Given the description of an element on the screen output the (x, y) to click on. 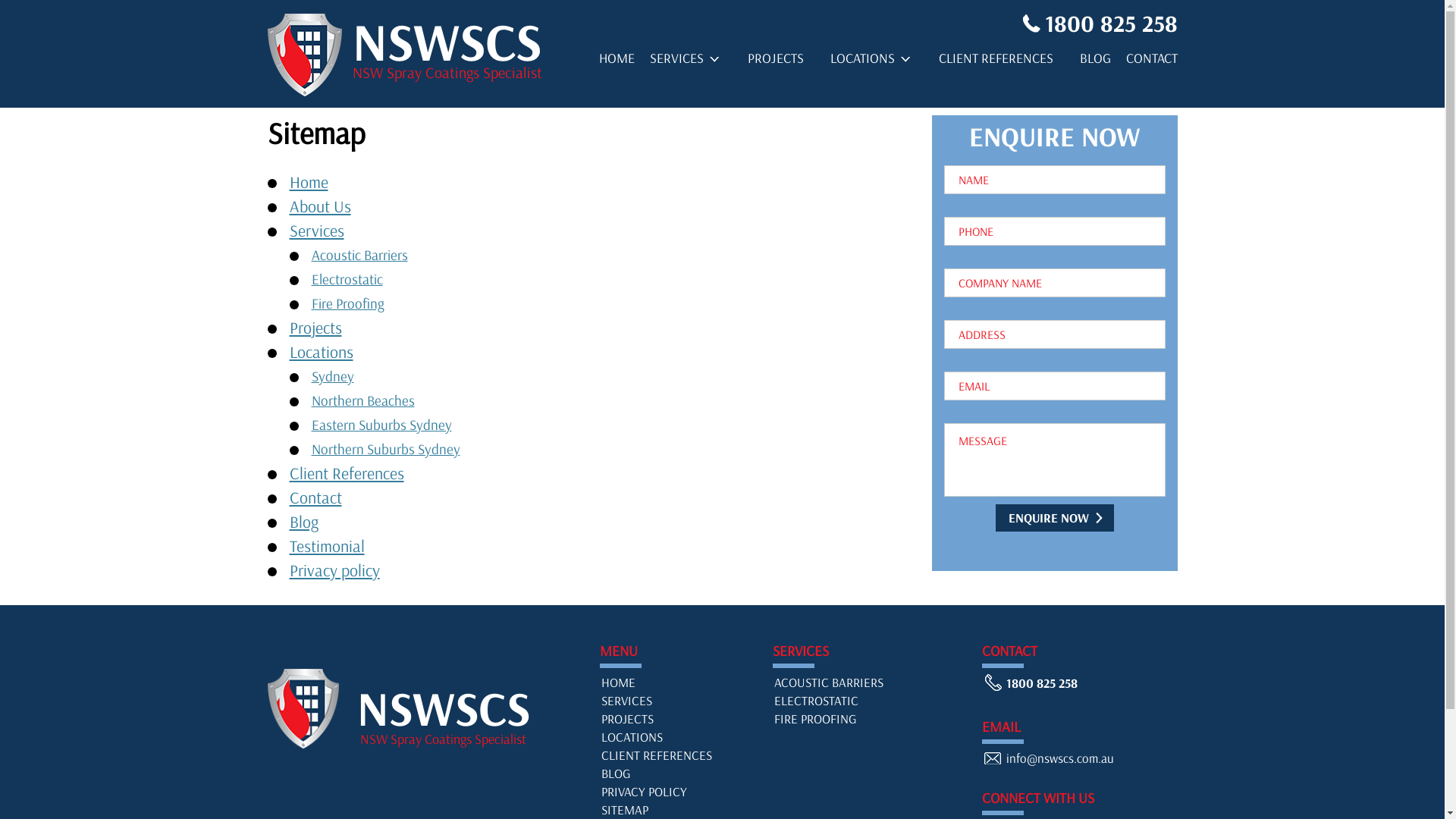
PRIVACY POLICY Element type: text (643, 791)
PROJECTS Element type: text (626, 718)
Locations Element type: text (329, 351)
NSWSCS
NSW Spray Coatings Specialist Element type: text (406, 55)
HOME Element type: text (616, 60)
CONTACT Element type: text (1150, 60)
SERVICES Element type: text (625, 700)
FIRE PROOFING Element type: text (814, 718)
Enquire Now Element type: text (1053, 517)
Northern Suburbs Sydney Element type: text (393, 448)
info@nswscs.com.au Element type: text (1047, 759)
NSWSCS
NSW Spray Coatings Specialist Element type: text (414, 708)
HOME Element type: text (617, 682)
Eastern Suburbs Sydney Element type: text (389, 424)
1800 825 258 Element type: text (1029, 684)
Northern Beaches Element type: text (370, 400)
BLOG Element type: text (1094, 60)
SITEMAP Element type: text (679, 809)
Acoustic Barriers Element type: text (367, 254)
NSWSCS Element type: hover (302, 708)
CLIENT REFERENCES Element type: text (655, 754)
SERVICES Element type: text (684, 60)
1800 825 258 Element type: text (1096, 22)
LOCATIONS Element type: text (631, 736)
ELECTROSTATIC Element type: text (815, 700)
LOCATIONS Element type: text (870, 60)
Fire Proofing Element type: text (355, 303)
Projects Element type: text (315, 327)
Testimonial Element type: text (326, 545)
ACOUSTIC BARRIERS Element type: text (827, 682)
Electrostatic Element type: text (354, 278)
Client References Element type: text (346, 472)
Sydney Element type: text (340, 376)
NSWSCS Element type: hover (305, 55)
Privacy policy Element type: text (334, 569)
CLIENT REFERENCES Element type: text (995, 60)
Blog Element type: text (303, 521)
About Us Element type: text (320, 205)
Contact Element type: text (315, 497)
Services Element type: text (325, 230)
BLOG Element type: text (615, 773)
Home Element type: text (308, 181)
PROJECTS Element type: text (775, 60)
